Given the description of an element on the screen output the (x, y) to click on. 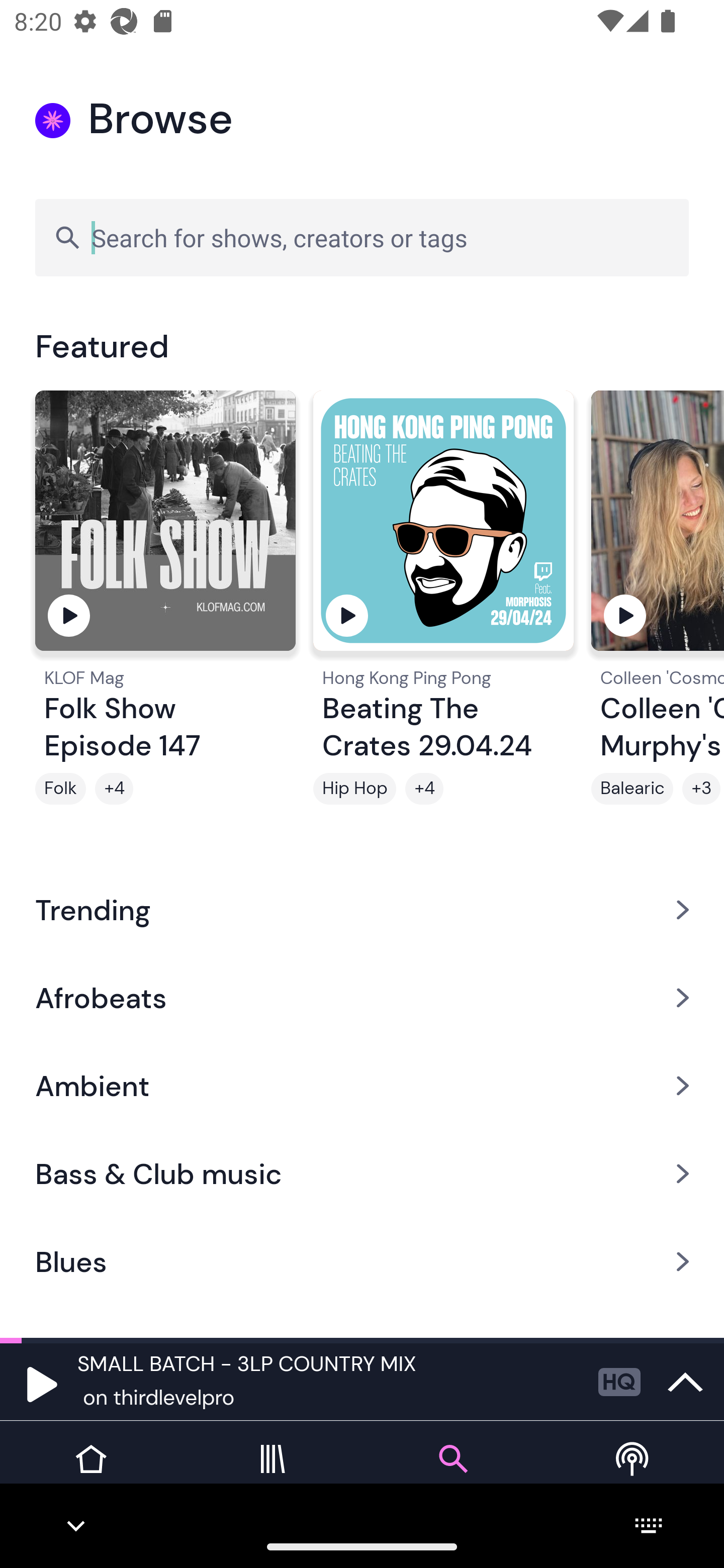
Search for shows, creators or tags (361, 237)
Folk (60, 788)
Hip Hop (354, 788)
Balearic (632, 788)
Trending (361, 909)
Afrobeats (361, 997)
Ambient (361, 1085)
Bass & Club music (361, 1174)
Blues (361, 1262)
Home tab (90, 1473)
Library tab (271, 1473)
Browse tab (452, 1473)
Live tab (633, 1473)
